Given the description of an element on the screen output the (x, y) to click on. 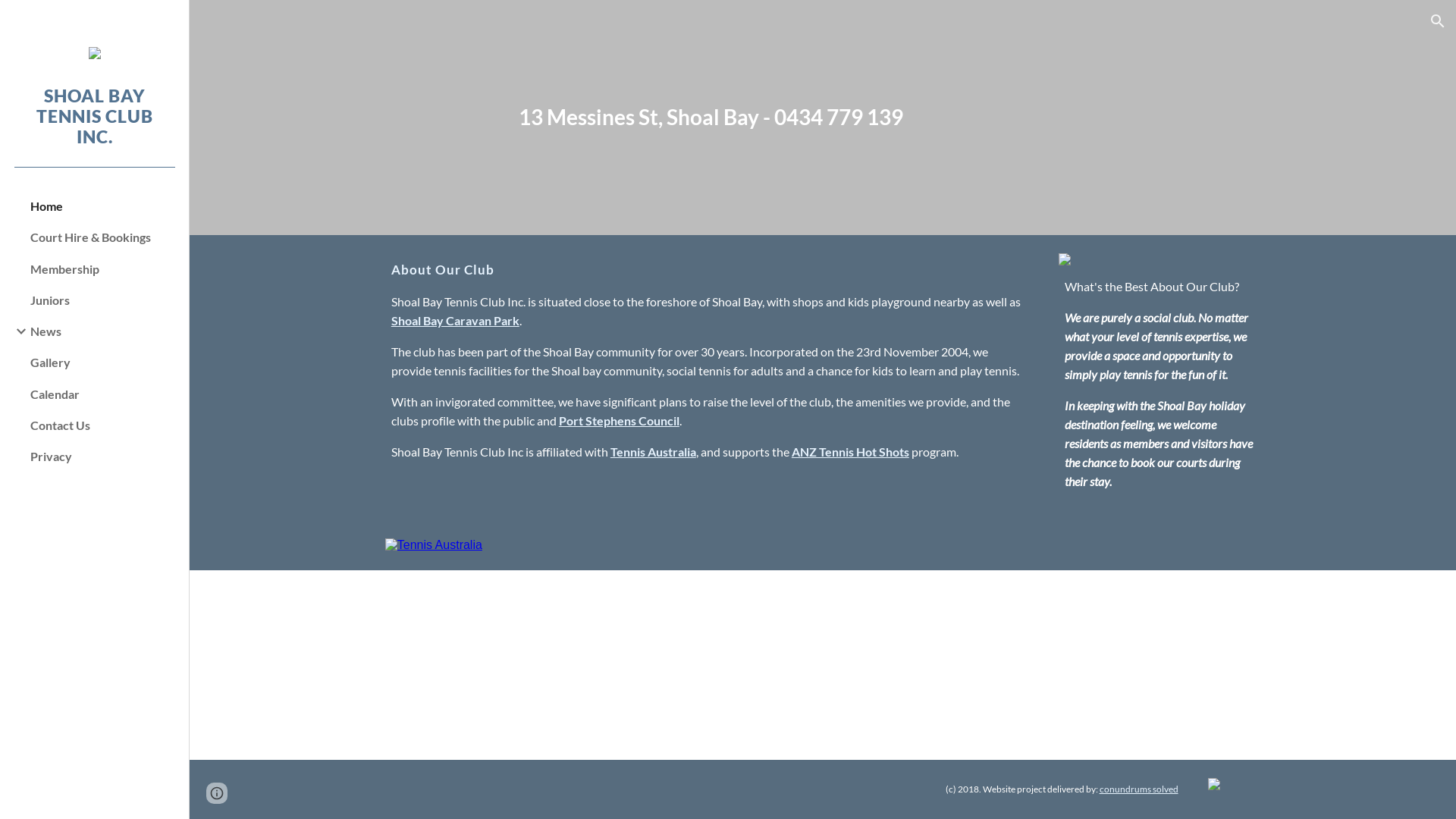
Shoal Bay Caravan Park Element type: text (455, 320)
Contact Us Element type: text (103, 424)
Calendar Element type: text (103, 393)
SHOAL BAY TENNIS CLUB INC. Element type: text (94, 134)
Privacy Element type: text (103, 455)
ANZ Tennis Hot Shots Element type: text (850, 451)
Gallery Element type: text (103, 361)
Juniors Element type: text (103, 299)
News Element type: text (103, 330)
Membership Element type: text (103, 268)
Expand/Collapse Element type: hover (16, 331)
Port Stephens Council Element type: text (618, 420)
Tennis Australia Element type: text (653, 451)
conundrums solved Element type: text (1138, 788)
Home Element type: text (103, 205)
Court Hire & Bookings Element type: text (103, 236)
